Given the description of an element on the screen output the (x, y) to click on. 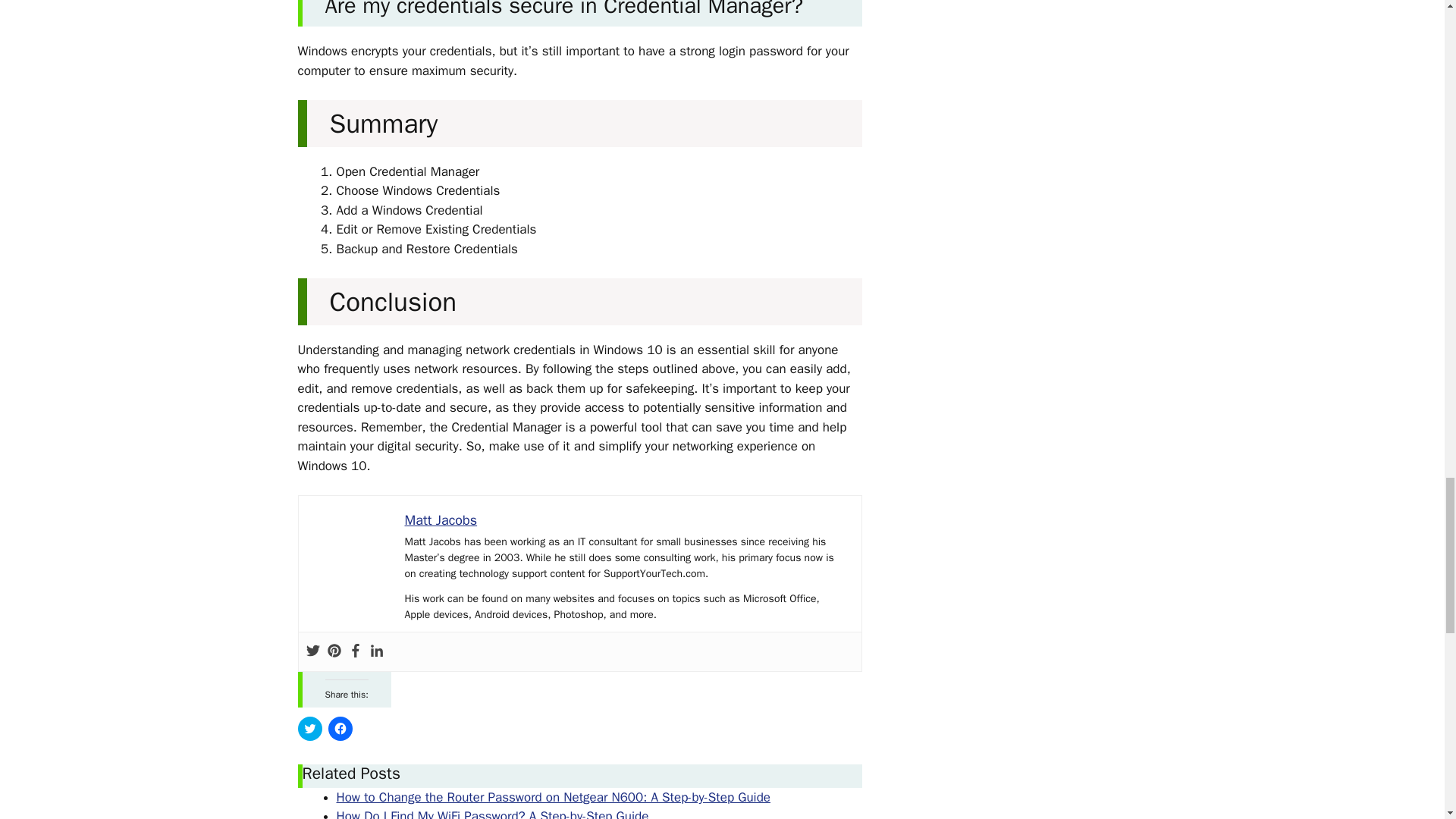
Matt Jacobs (440, 519)
How Do I Find My WiFi Password? A Step-by-Step Guide (492, 813)
